Given the description of an element on the screen output the (x, y) to click on. 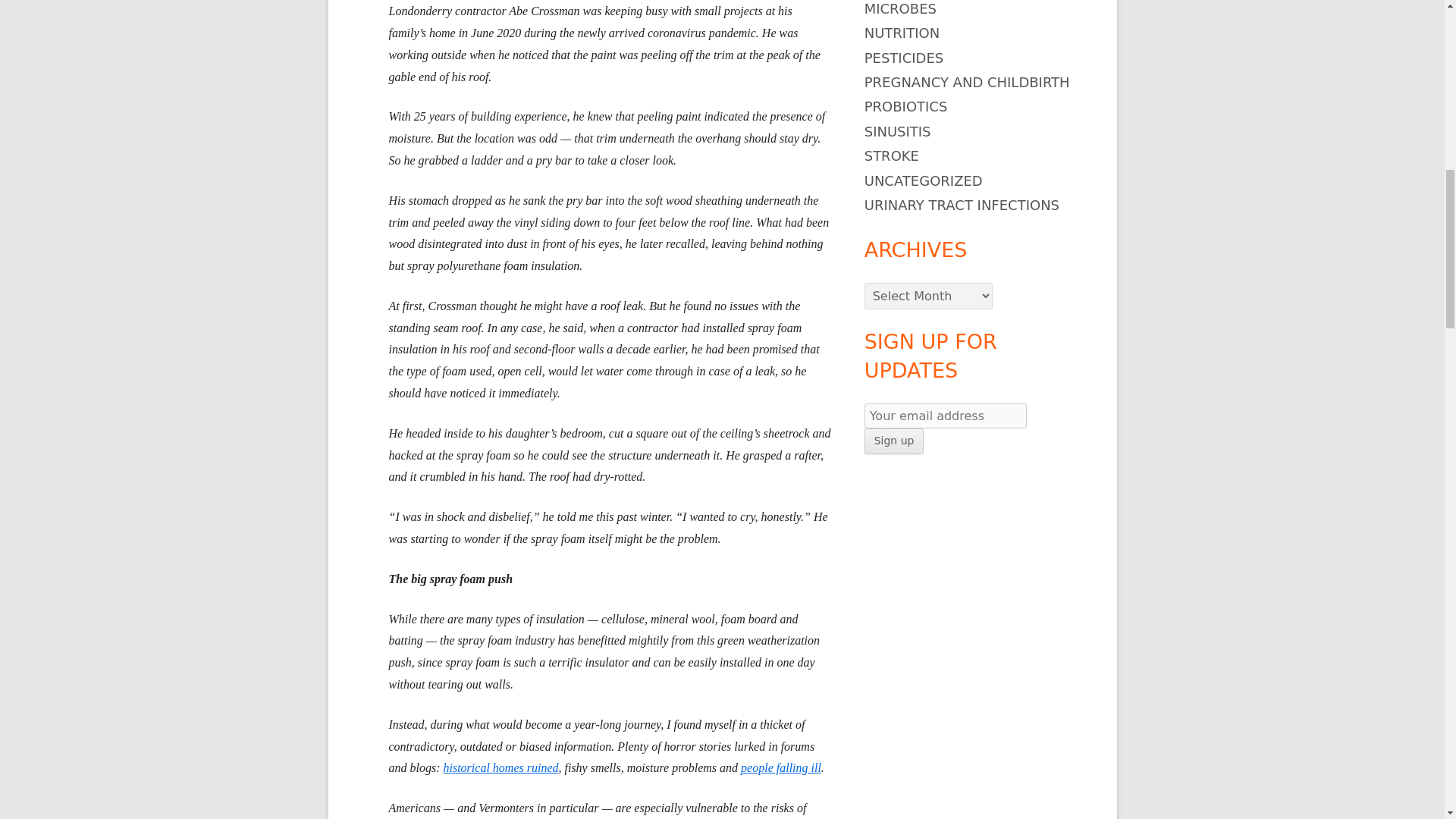
people falling ill (781, 767)
Sign up (894, 441)
historical homes ruined (499, 767)
